Given the description of an element on the screen output the (x, y) to click on. 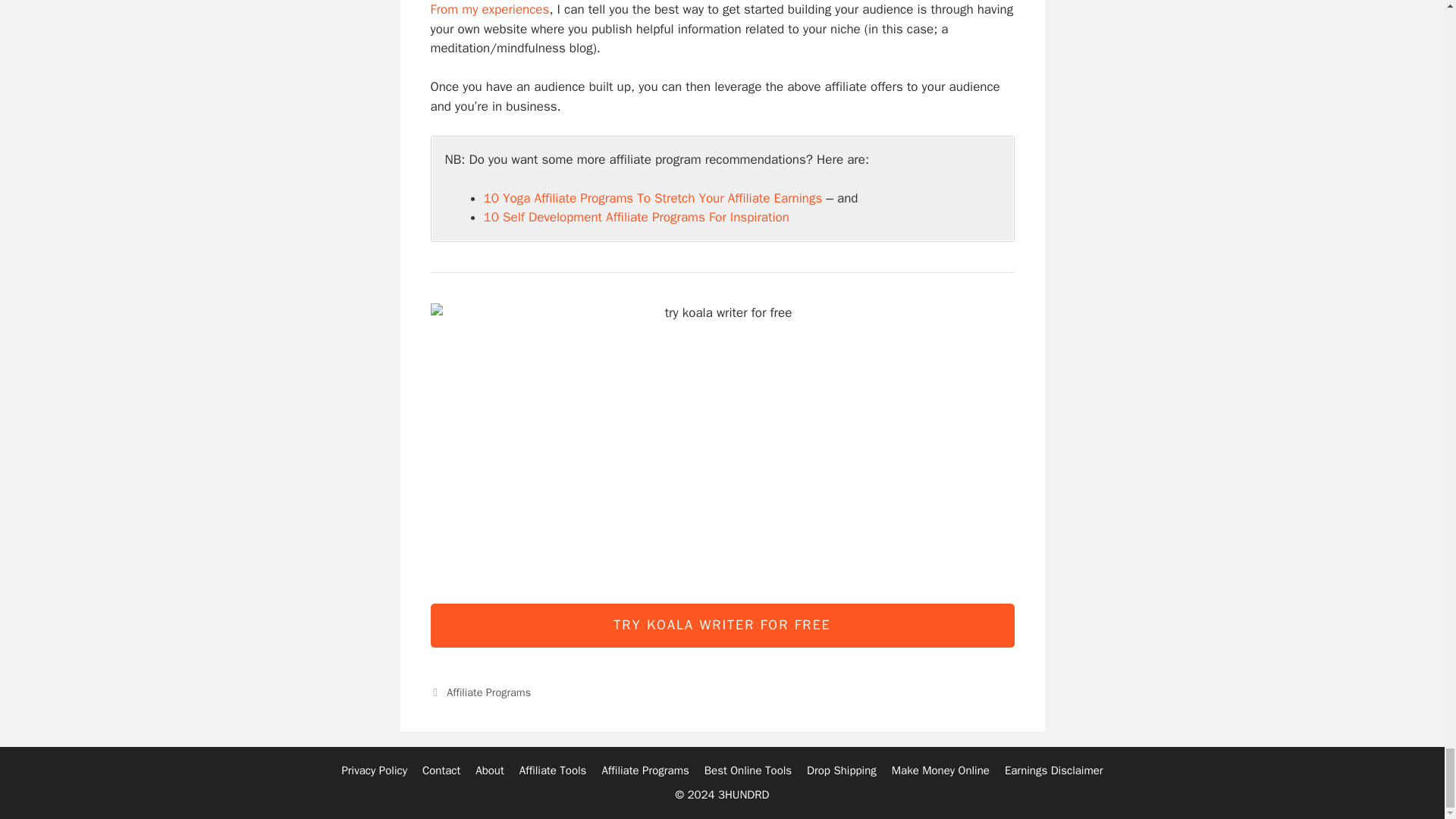
TRY KOALA WRITER FOR FREE (722, 625)
Affiliate Programs (488, 692)
Privacy Policy (373, 770)
10 Self Development Affiliate Programs For Inspiration (636, 217)
From my experiences (490, 9)
